Given the description of an element on the screen output the (x, y) to click on. 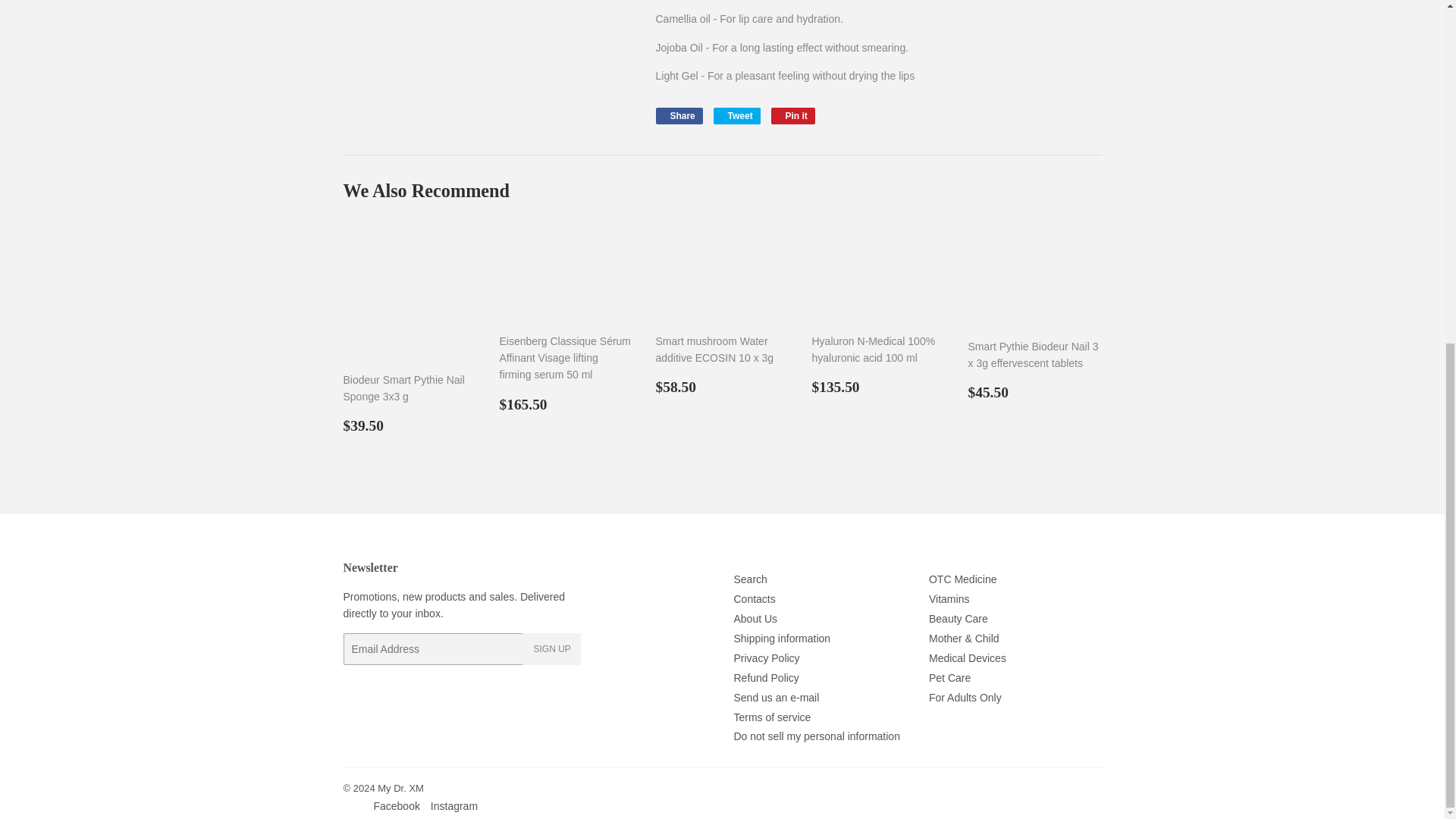
Tweet on Twitter (736, 115)
My Dr. XM  on Facebook (395, 806)
Share on Facebook (678, 115)
My Dr. XM  on Instagram (453, 806)
Pin on Pinterest (793, 115)
